Given the description of an element on the screen output the (x, y) to click on. 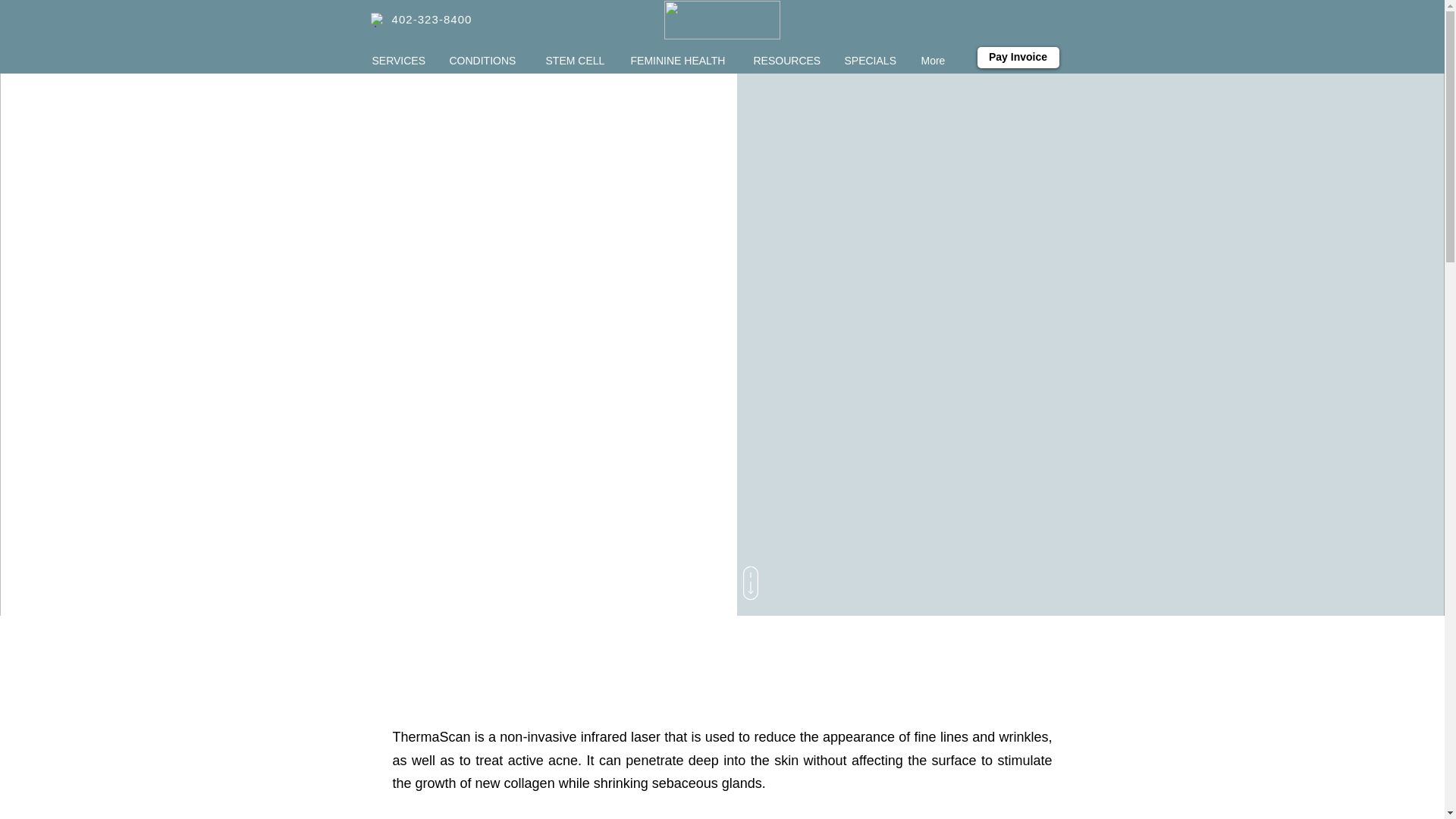
STEM CELL (576, 60)
Logo - SPMA wht.png (721, 19)
402-323-8400 (431, 19)
FEMININE HEALTH (679, 60)
